Given the description of an element on the screen output the (x, y) to click on. 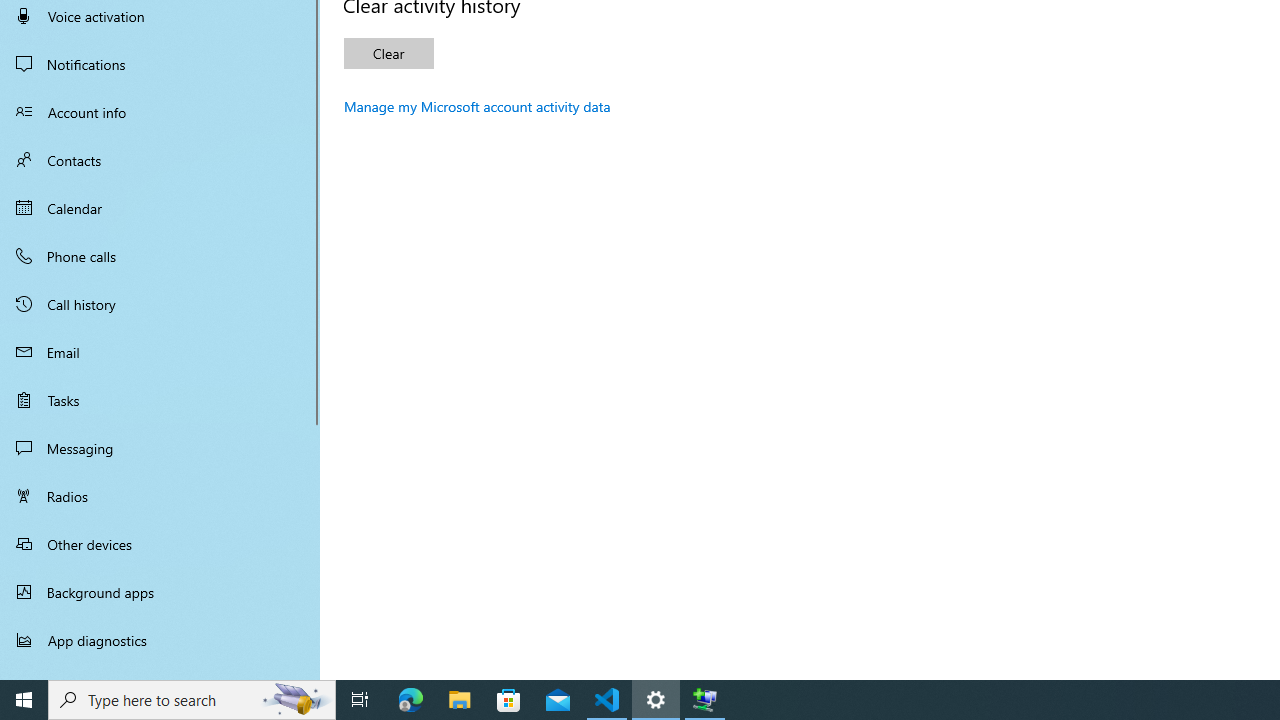
Radios (160, 495)
Automatic file downloads (160, 671)
Call history (160, 304)
Account info (160, 111)
Email (160, 351)
Other devices (160, 543)
Contacts (160, 160)
Extensible Wizards Host Process - 1 running window (704, 699)
App diagnostics (160, 639)
Phone calls (160, 255)
